Given the description of an element on the screen output the (x, y) to click on. 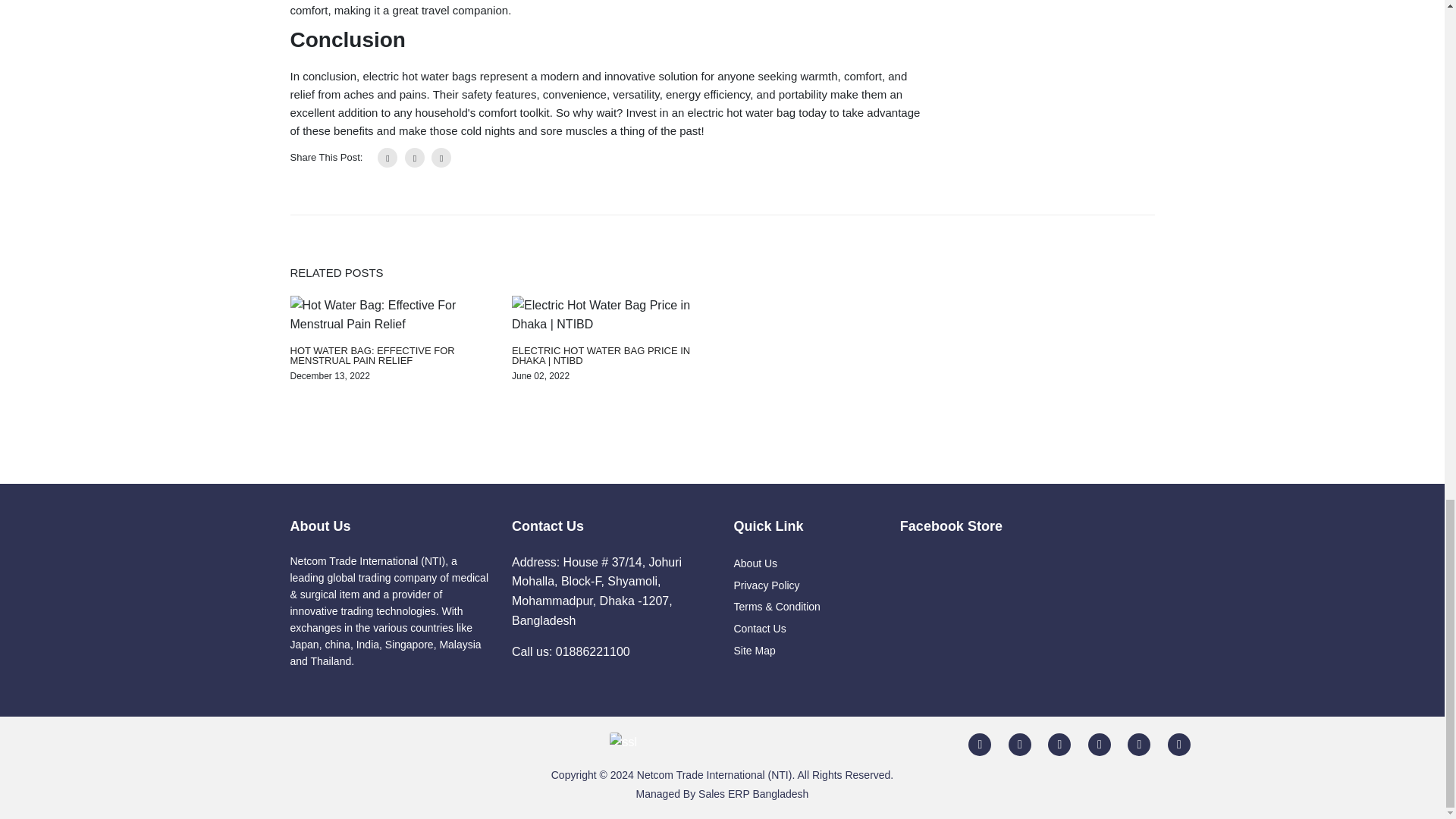
fb:page Facebook Social Plugin (1026, 609)
linkedin (440, 157)
Linkedin (1058, 742)
Youtube (1099, 742)
Twitter (1019, 742)
twitter (414, 157)
facebook (978, 742)
